Given the description of an element on the screen output the (x, y) to click on. 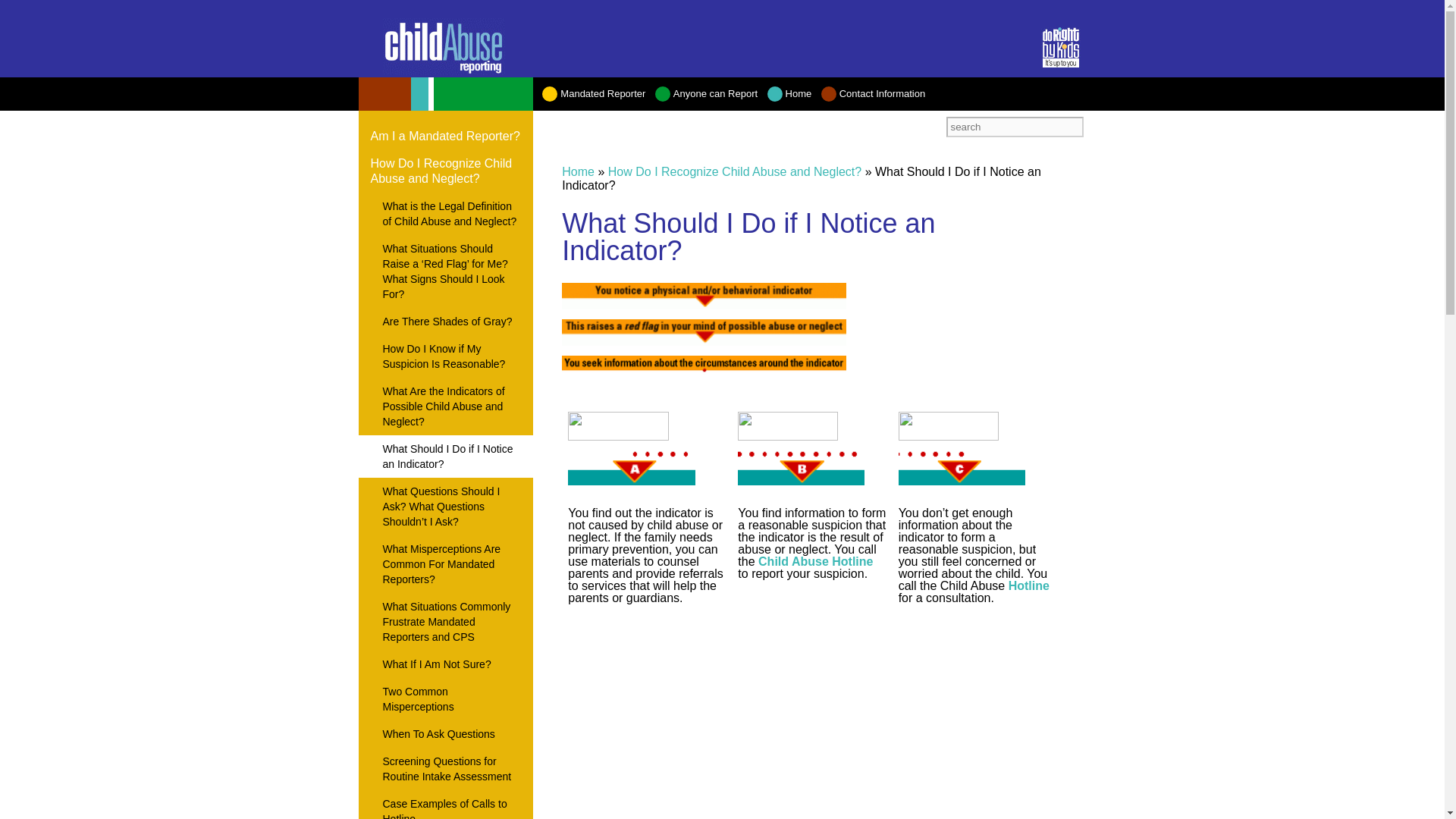
Anyone can Report (706, 93)
How Do I Recognize Child Abuse and Neglect? (445, 170)
Contact Information (872, 93)
What If I Am Not Sure? (445, 664)
Mandated Reporter (593, 93)
What Are the Indicators of Possible Child Abuse and Neglect? (445, 405)
Screening Questions for Routine Intake Assessment (445, 768)
When To Ask Questions (445, 733)
What Should I Do if I Notice an Indicator? (445, 455)
Case Examples of Calls to Hotline (445, 804)
How Do I Know if My Suspicion Is Reasonable? (445, 355)
What is the Legal Definition of Child Abuse and Neglect? (445, 213)
Home (789, 93)
What Misperceptions Are Common For Mandated Reporters? (445, 563)
